Given the description of an element on the screen output the (x, y) to click on. 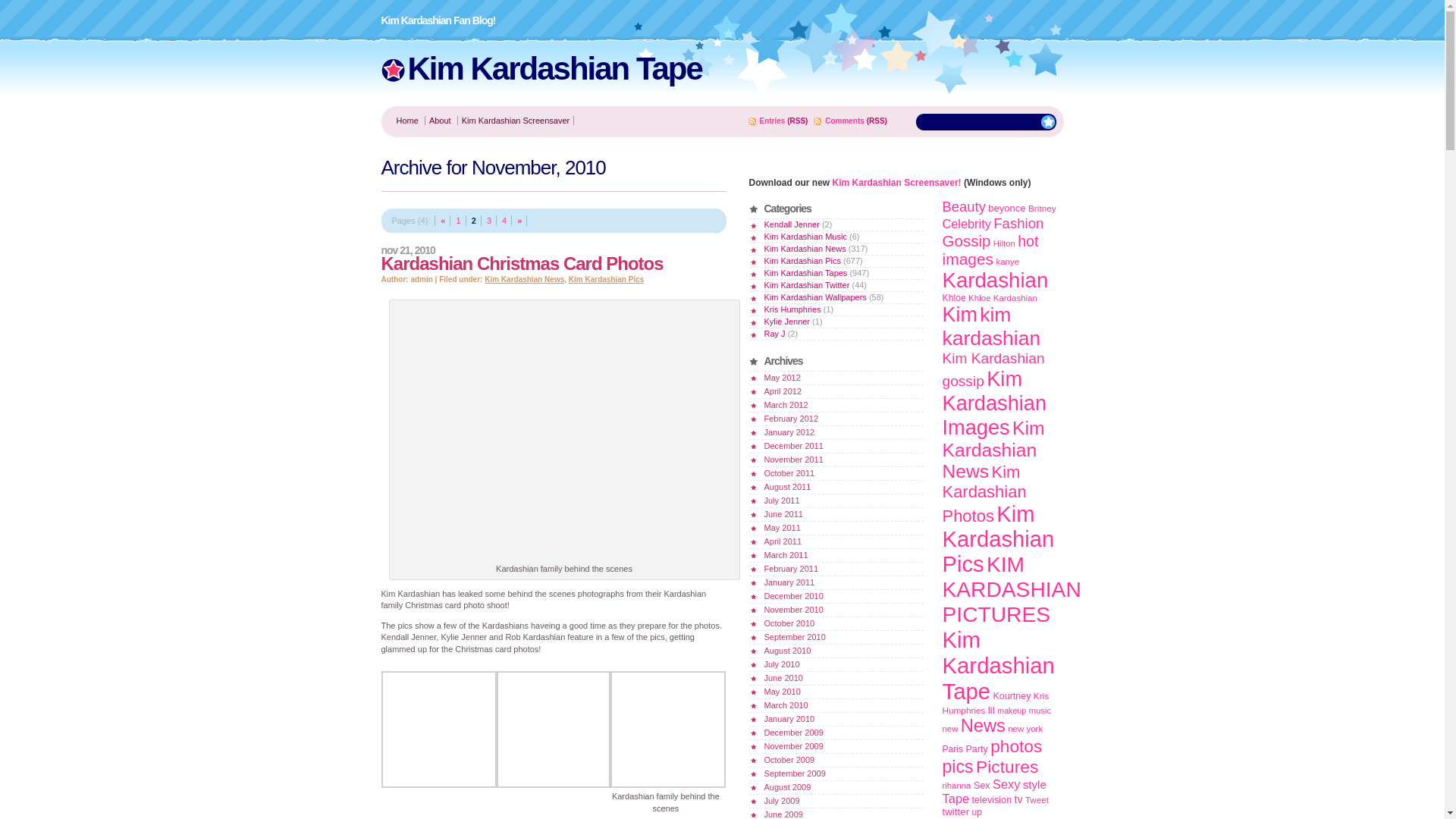
Kim Kardashian Tape (554, 68)
Permanent Link to Kardashian Christmas Card Photos (521, 263)
 kim-kardashian-christmas-pics  (438, 784)
Comments (844, 121)
3 (489, 220)
 kim-kardashian-kendall-jenner-2  (553, 784)
View all posts in Kim Kardashian News (524, 279)
About (440, 120)
Kim Kardashian Screensaver (515, 120)
Kim Kardashian Pics (606, 279)
kardashians-christmas-photos-2 (564, 431)
 kardashians-christmas-photos-2  (666, 784)
Kim Kardashian News (524, 279)
Home (406, 120)
View all posts in Kim Kardashian Pics (606, 279)
